Given the description of an element on the screen output the (x, y) to click on. 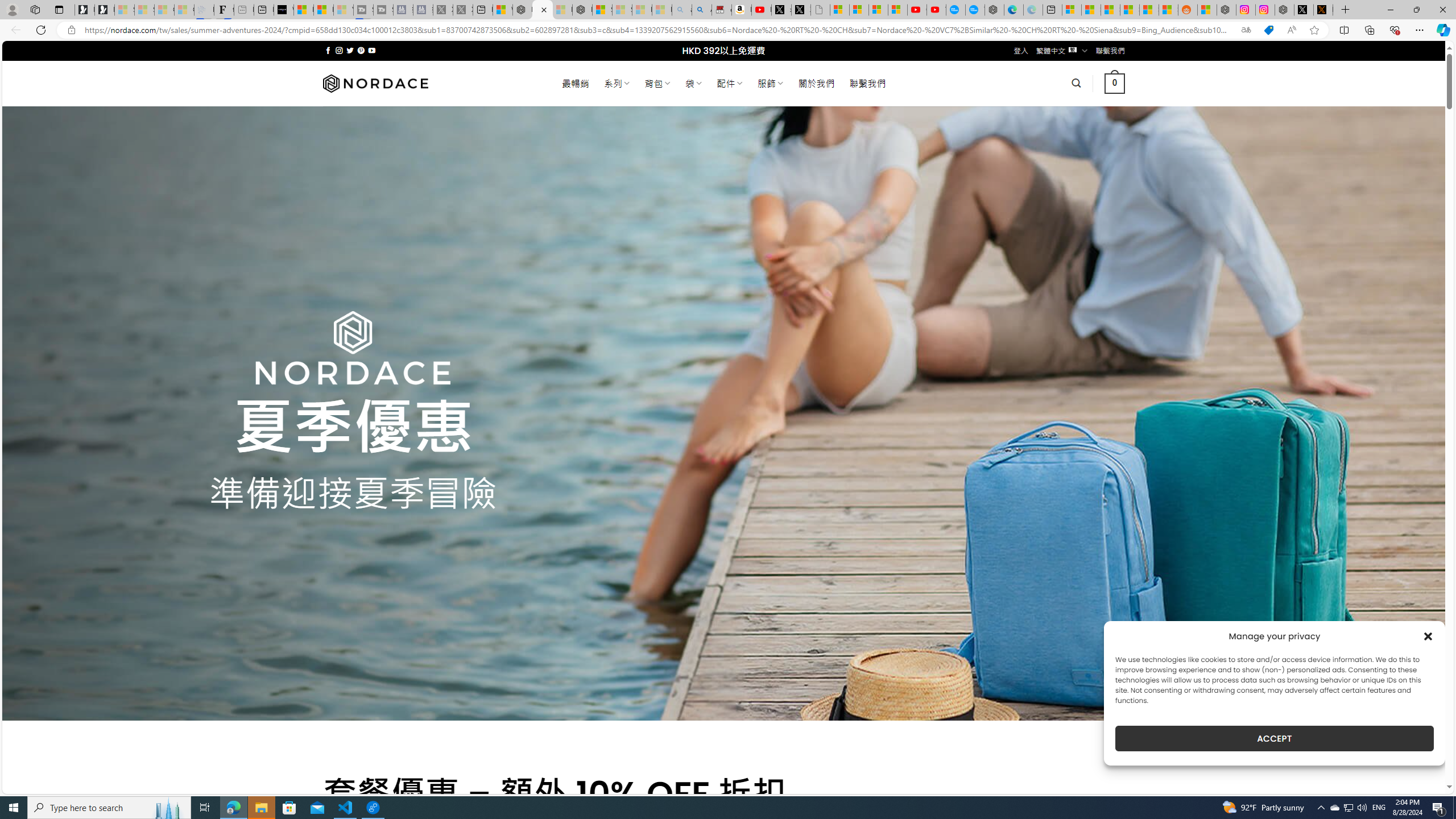
Microsoft Start Sports (303, 9)
Shanghai, China weather forecast | Microsoft Weather (1090, 9)
